Given the description of an element on the screen output the (x, y) to click on. 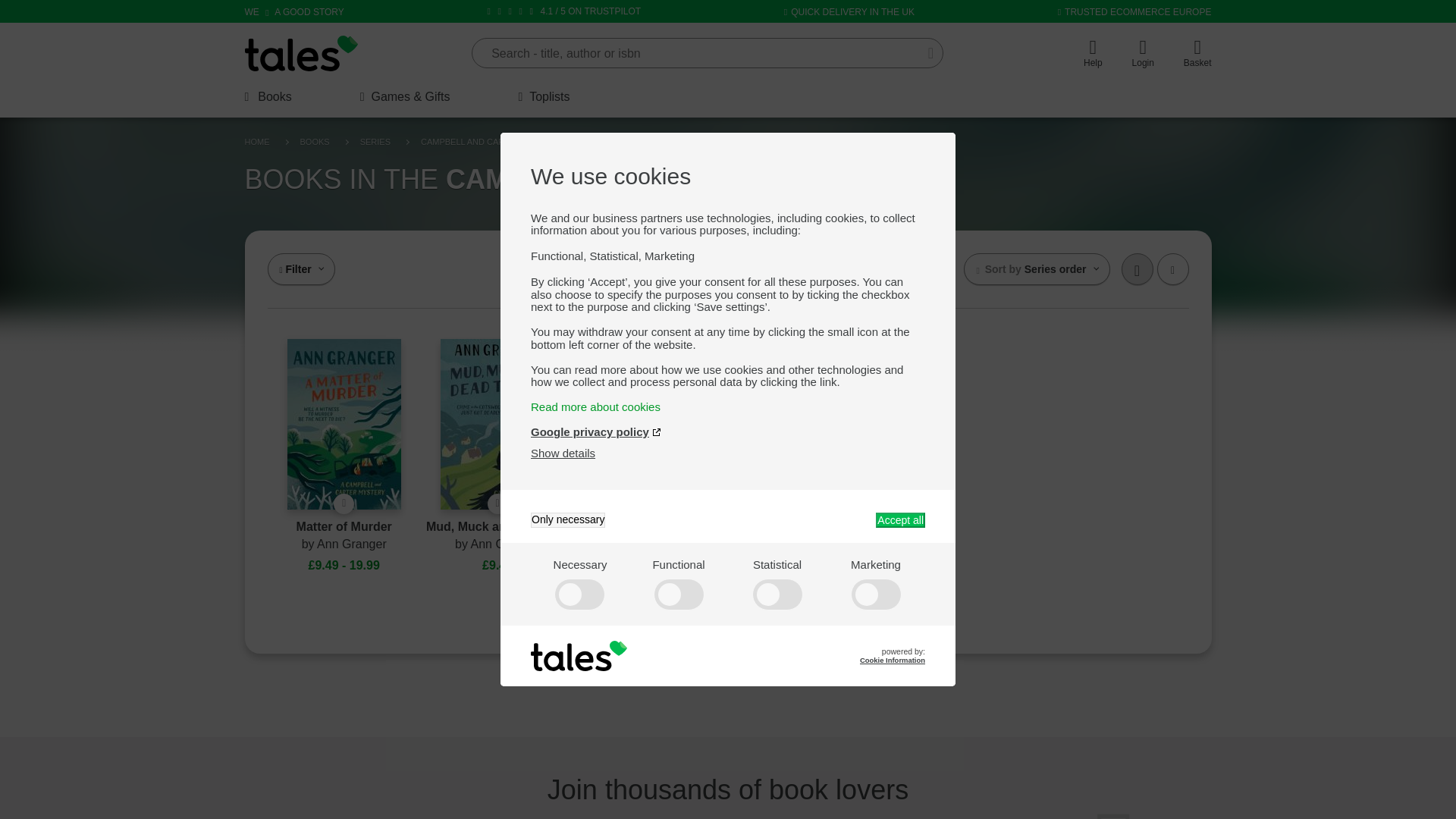
Google privacy policy (596, 431)
Read more about cookies (727, 406)
Findes som fysisk bog (343, 503)
Cookie Information (892, 660)
Accept all (900, 519)
Show in columns (1137, 269)
Show details (563, 452)
Findes som fysisk bog (497, 503)
Only necessary (568, 519)
tales.as (301, 53)
Show as rows (1173, 269)
